Given the description of an element on the screen output the (x, y) to click on. 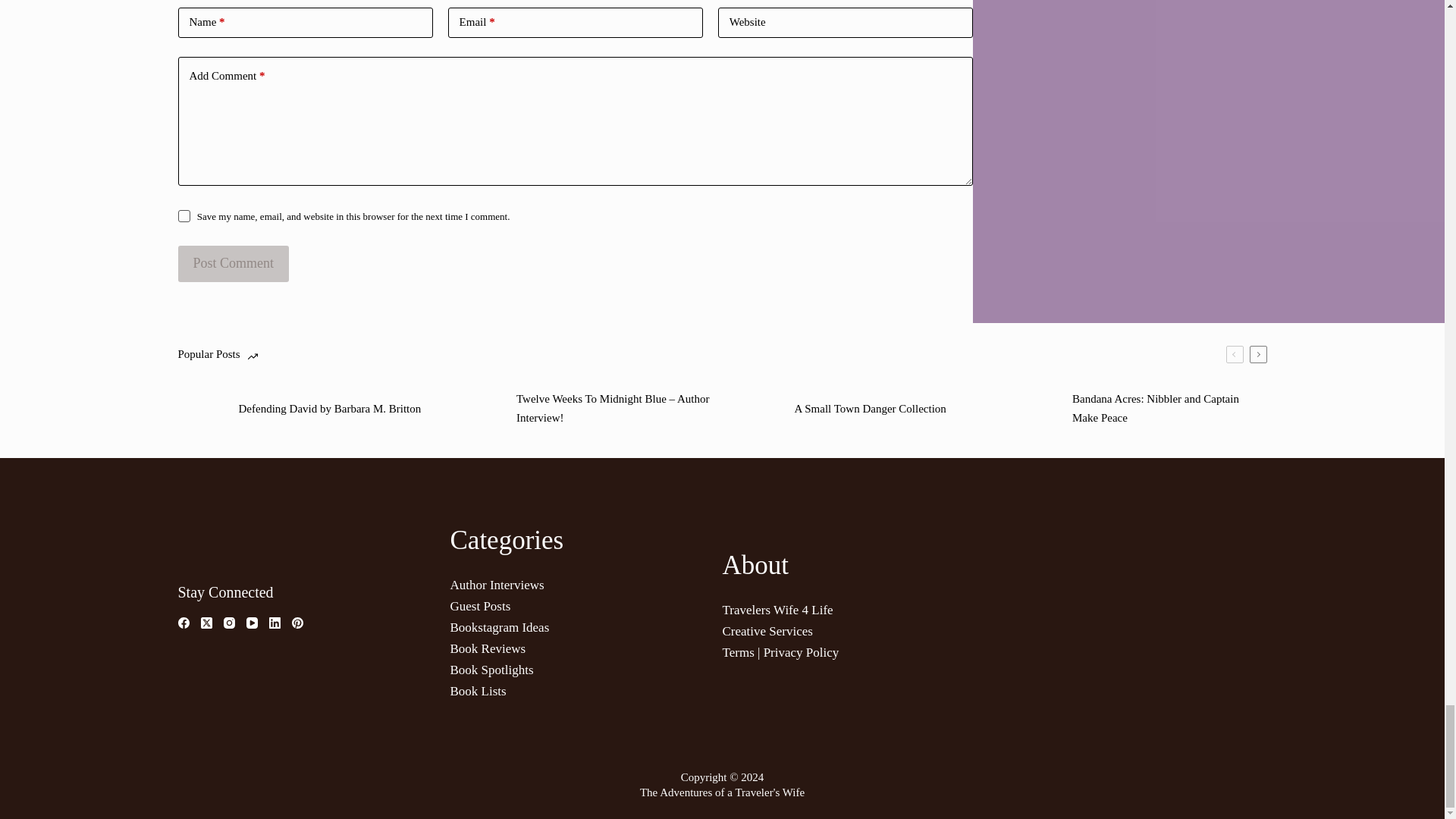
yes (183, 215)
